Given the description of an element on the screen output the (x, y) to click on. 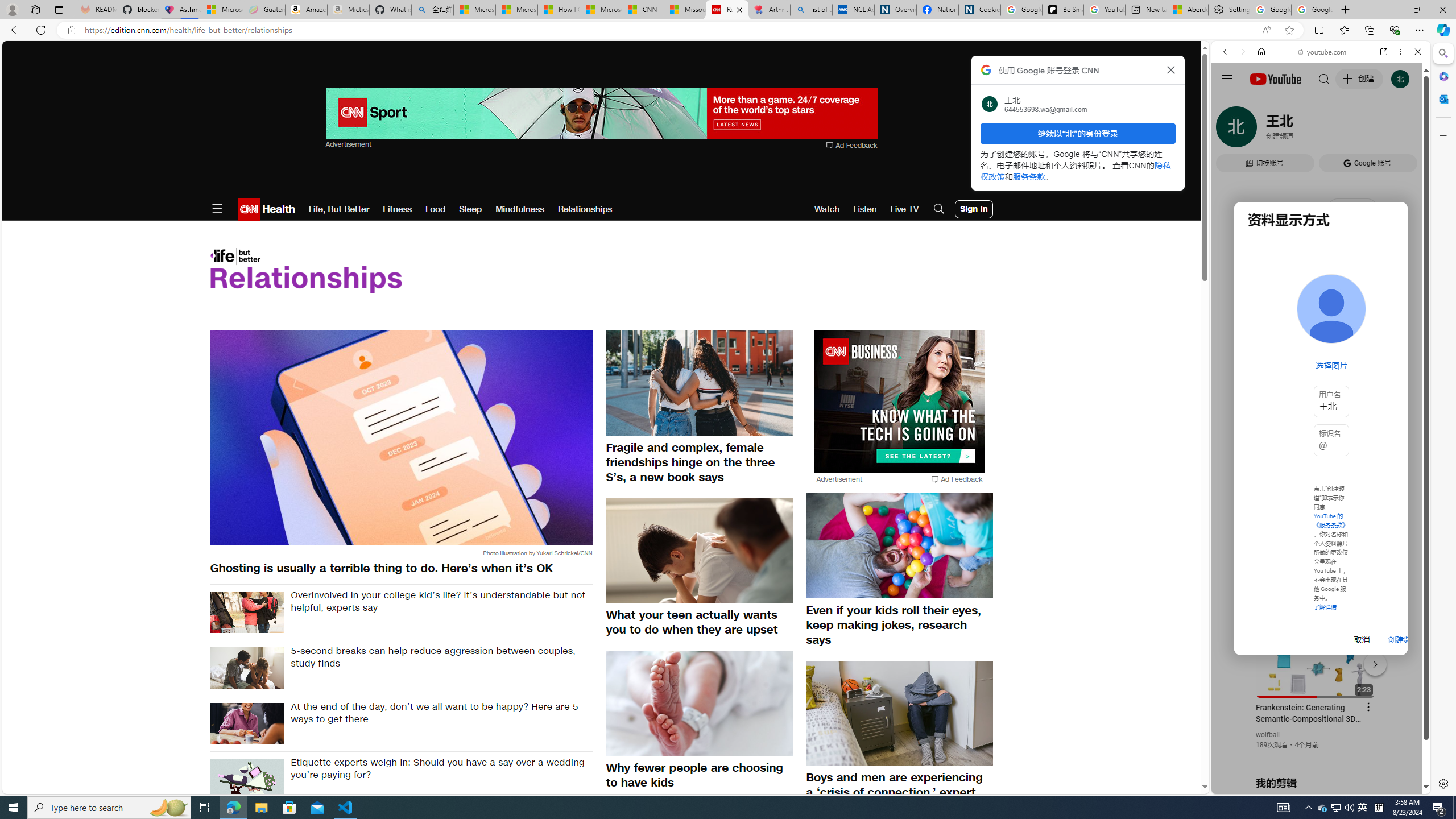
Relationships: Life, But Better | CNN (726, 9)
Class: dict_pnIcon rms_img (1312, 784)
Wellness Wedding Etiquette.png (246, 779)
Wellness Wedding Etiquette.png (246, 779)
Music (1320, 309)
Preferences (1403, 129)
CNN logo (248, 209)
Search Filter, WEB (1230, 129)
